Given the description of an element on the screen output the (x, y) to click on. 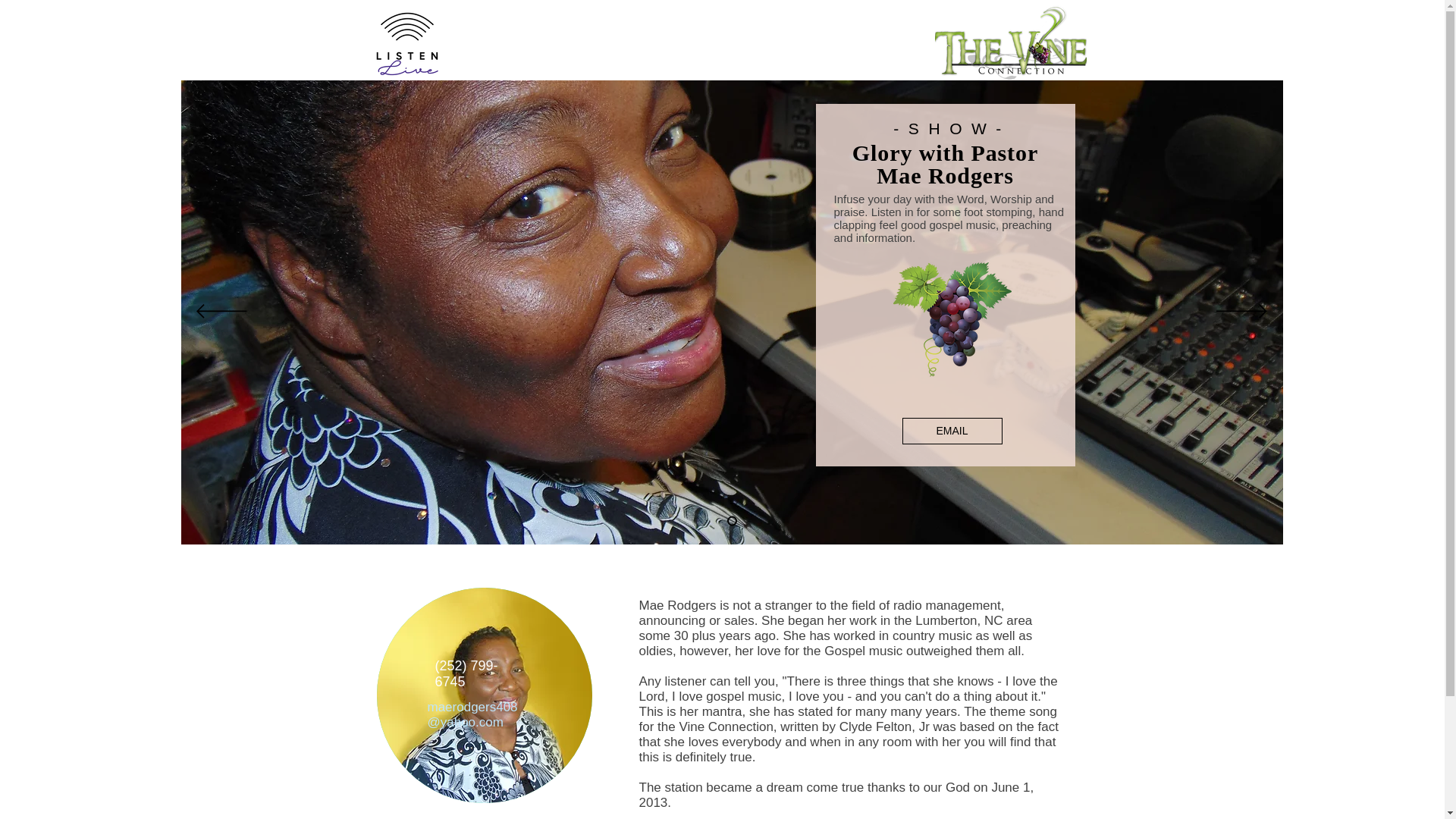
EMAIL (952, 430)
